Given the description of an element on the screen output the (x, y) to click on. 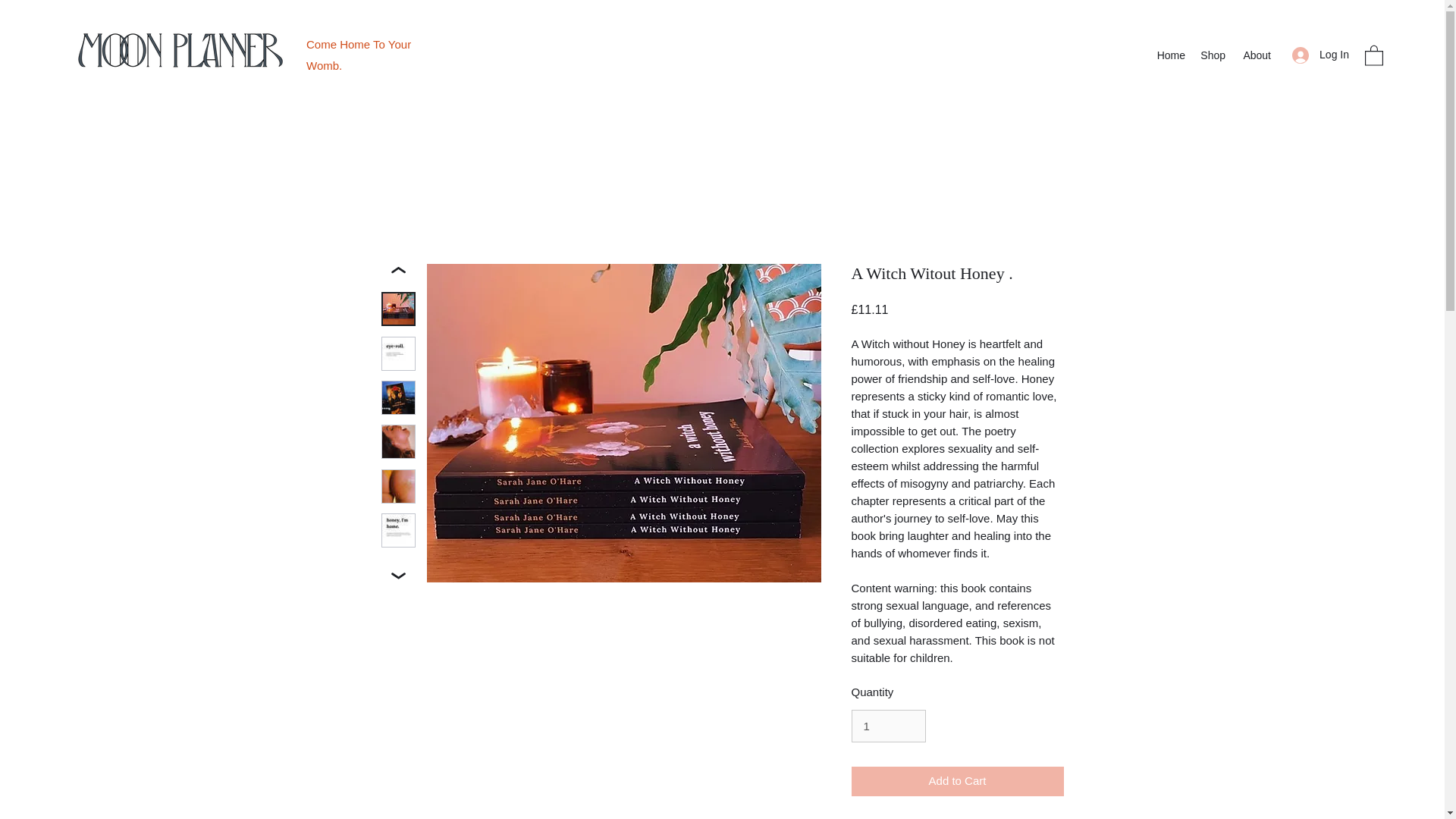
Home (1170, 55)
Log In (1320, 54)
About (1255, 55)
Shop (1212, 55)
1 (887, 726)
Add to Cart (956, 781)
